Given the description of an element on the screen output the (x, y) to click on. 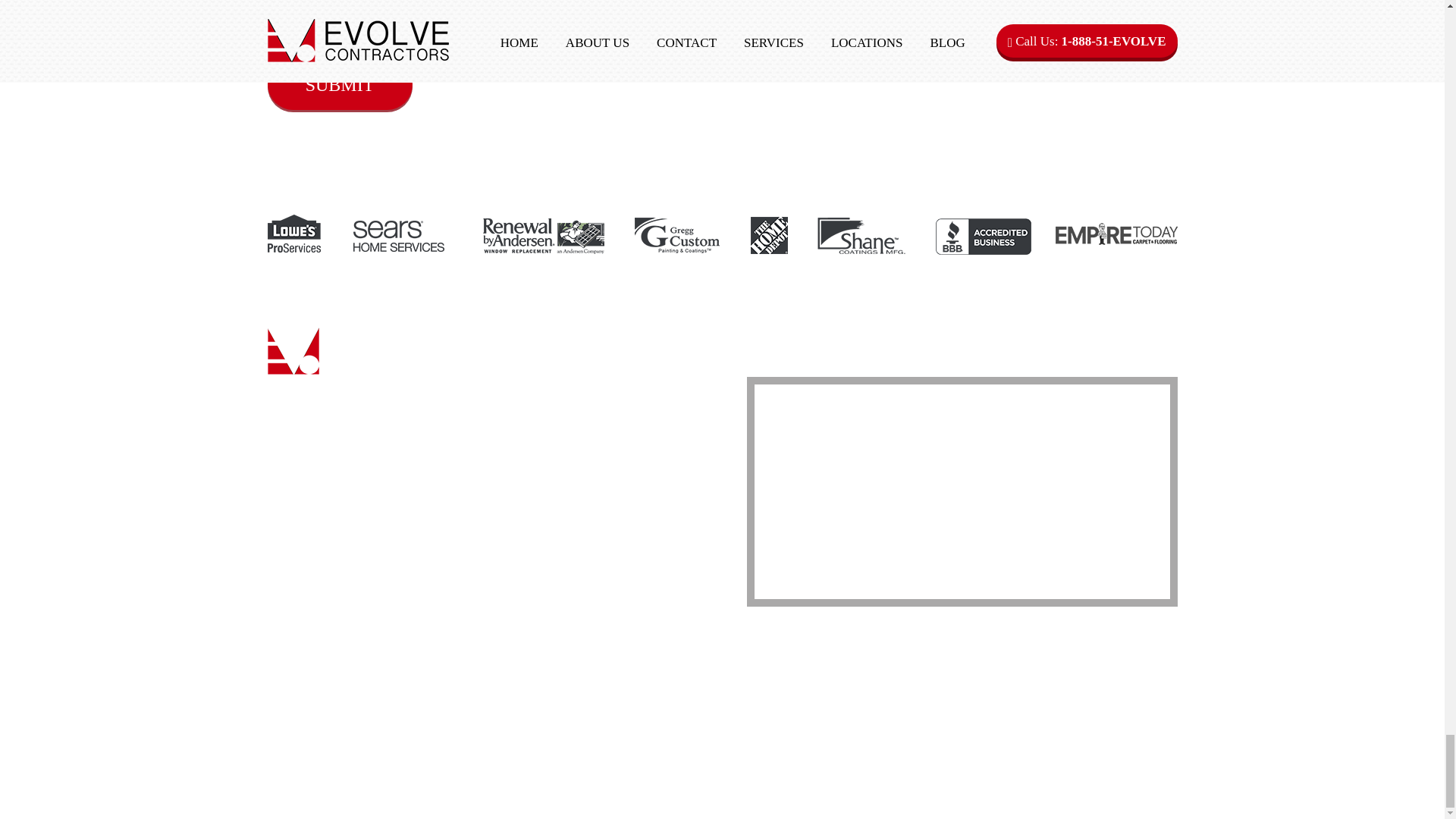
Home (588, 384)
Submit (339, 83)
Submit (339, 83)
